Given the description of an element on the screen output the (x, y) to click on. 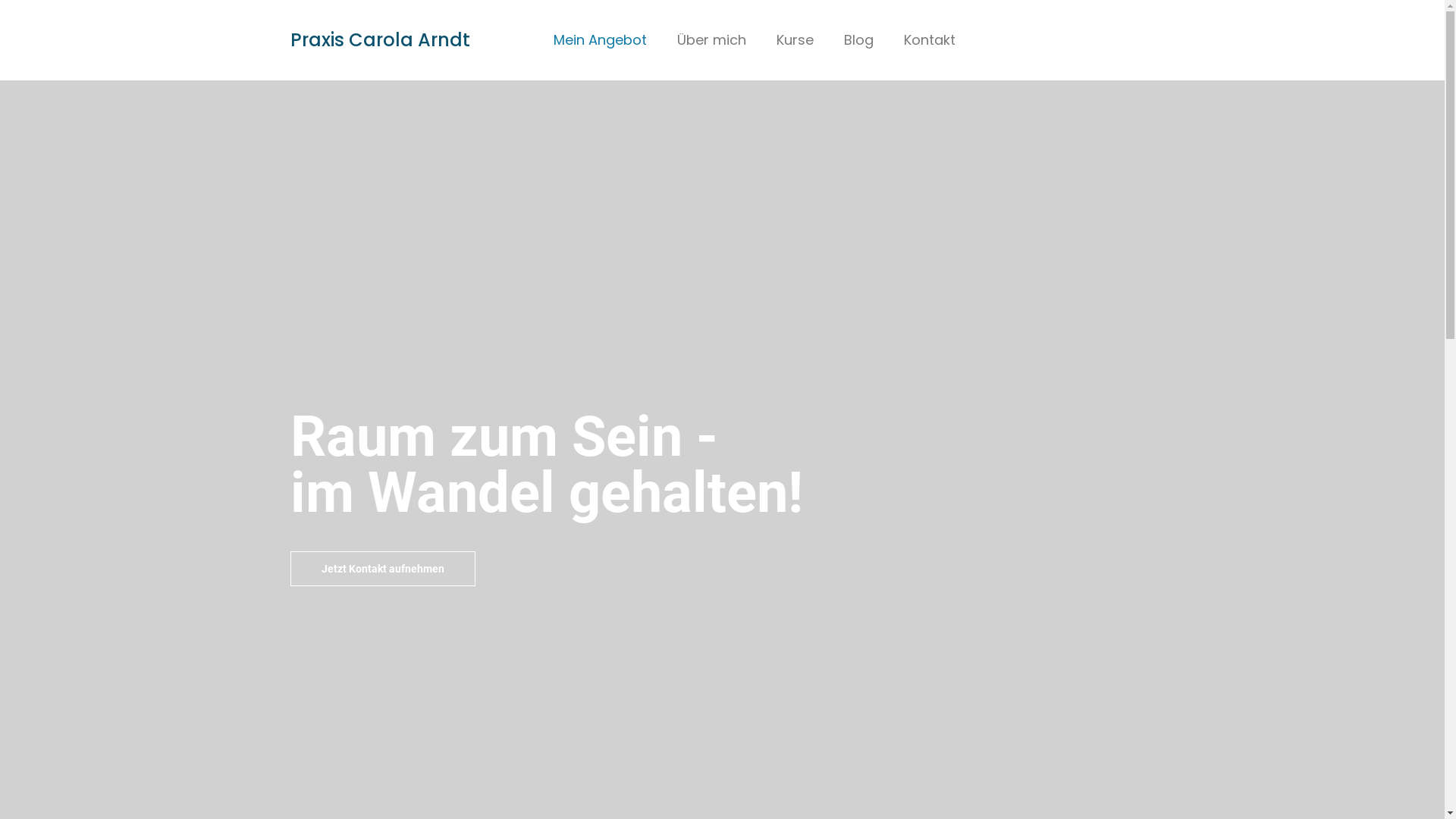
Praxis Carola Arndt Element type: text (379, 39)
Jetzt Kontakt aufnehmen Element type: text (381, 568)
Mein Angebot Element type: text (600, 39)
Kurse Element type: text (794, 39)
Kontakt Element type: text (929, 39)
Blog Element type: text (858, 39)
